Given the description of an element on the screen output the (x, y) to click on. 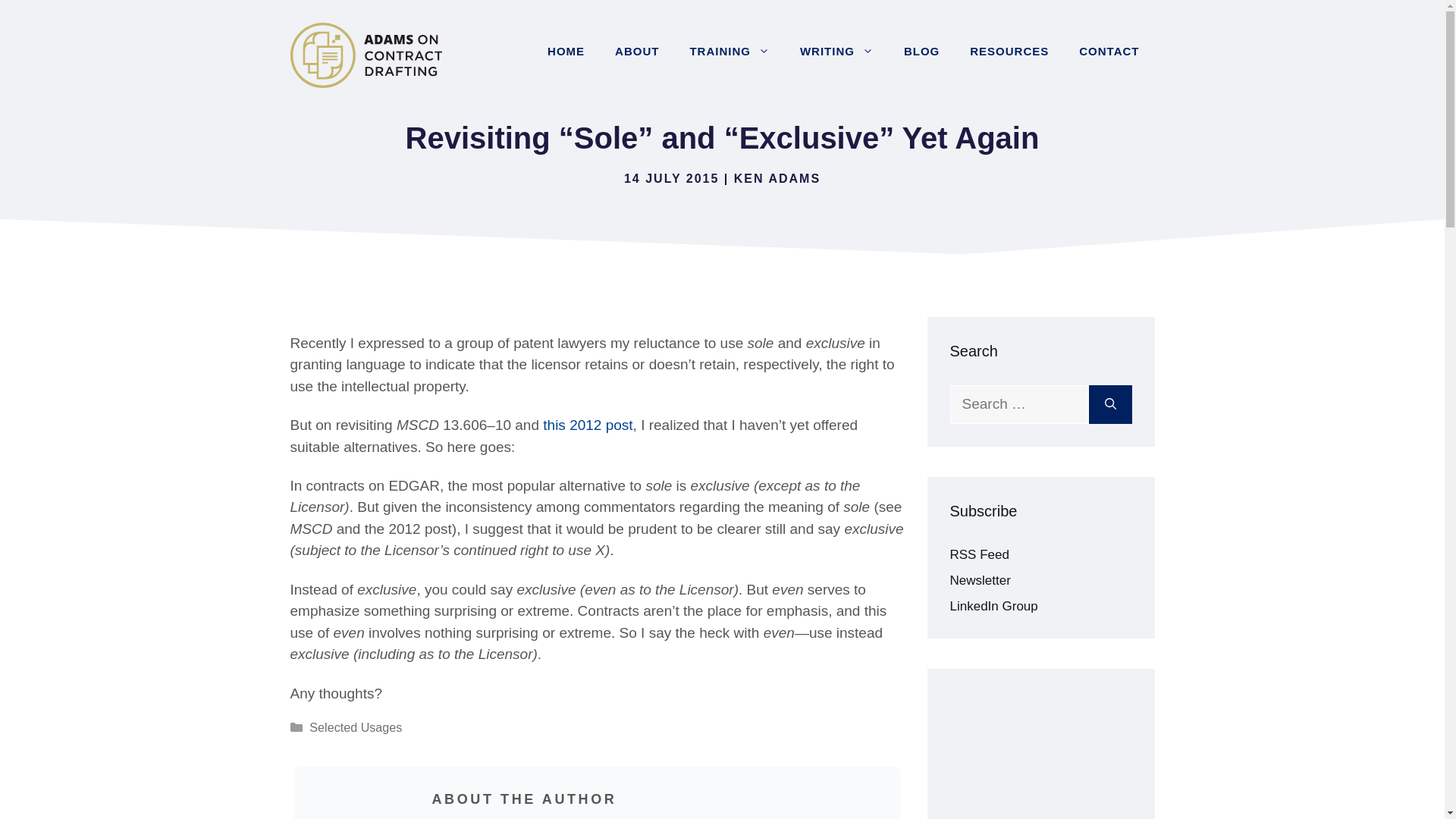
BLOG (921, 51)
RSS Feed (979, 554)
ABOUT (636, 51)
TRAINING (729, 51)
HOME (565, 51)
KEN ADAMS (777, 178)
CONTACT (1109, 51)
Selected Usages (354, 726)
Newsletter (979, 580)
RESOURCES (1009, 51)
LinkedIn Group (992, 605)
WRITING (836, 51)
View all posts by Ken Adams (777, 178)
Search for: (1018, 404)
this 2012 post (587, 424)
